Given the description of an element on the screen output the (x, y) to click on. 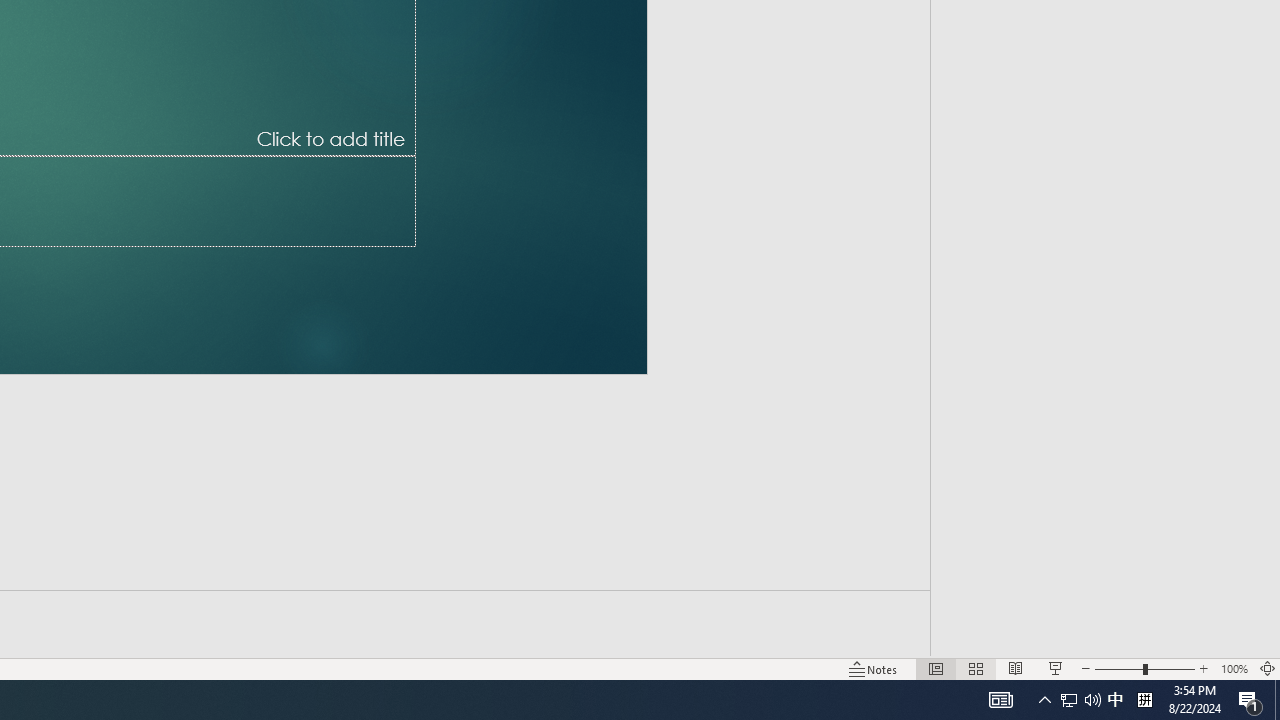
Zoom 100% (1234, 668)
